Given the description of an element on the screen output the (x, y) to click on. 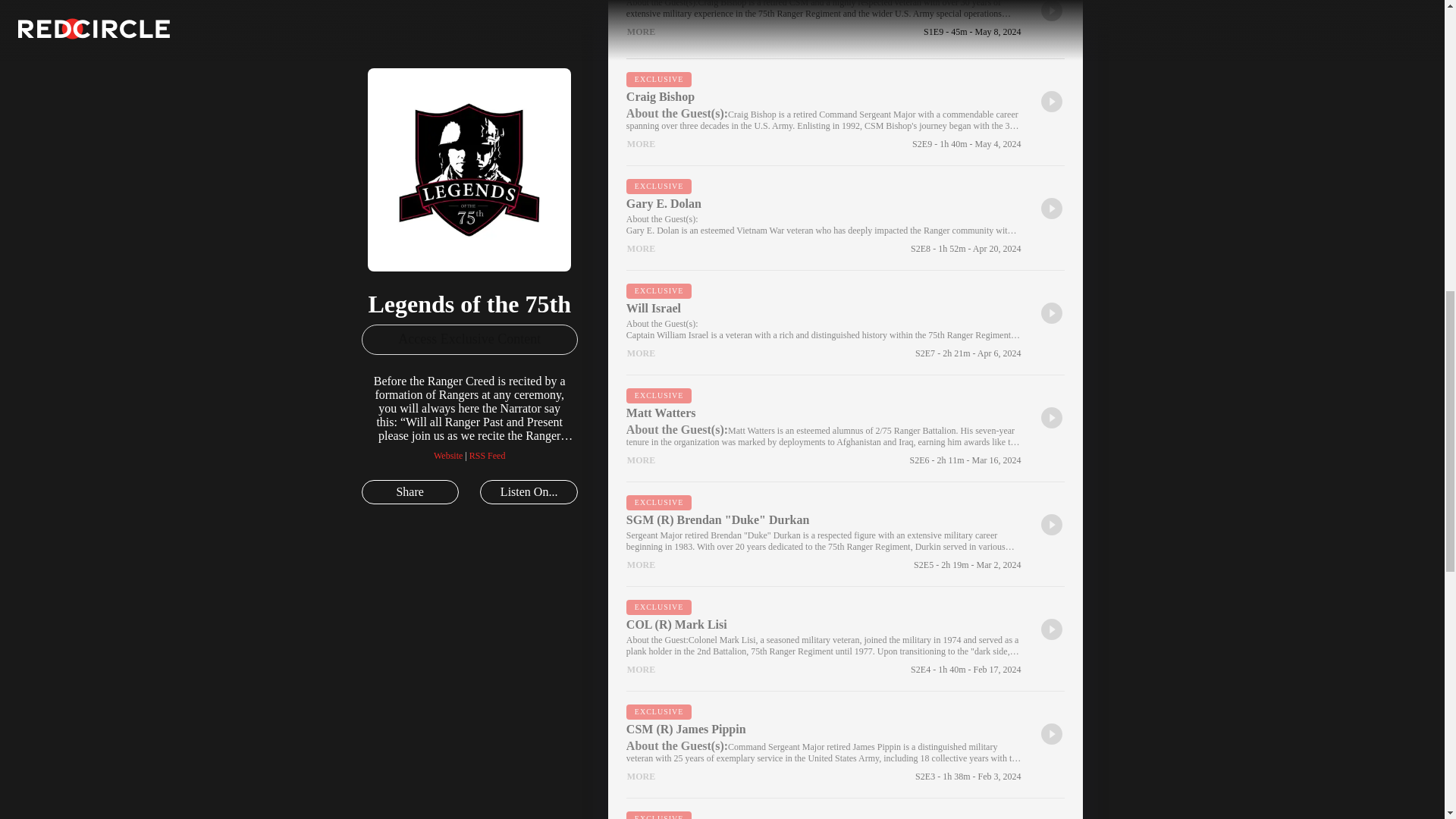
Craig Bishop (824, 97)
MORE (641, 31)
Legends of the 75th (457, 109)
